Given the description of an element on the screen output the (x, y) to click on. 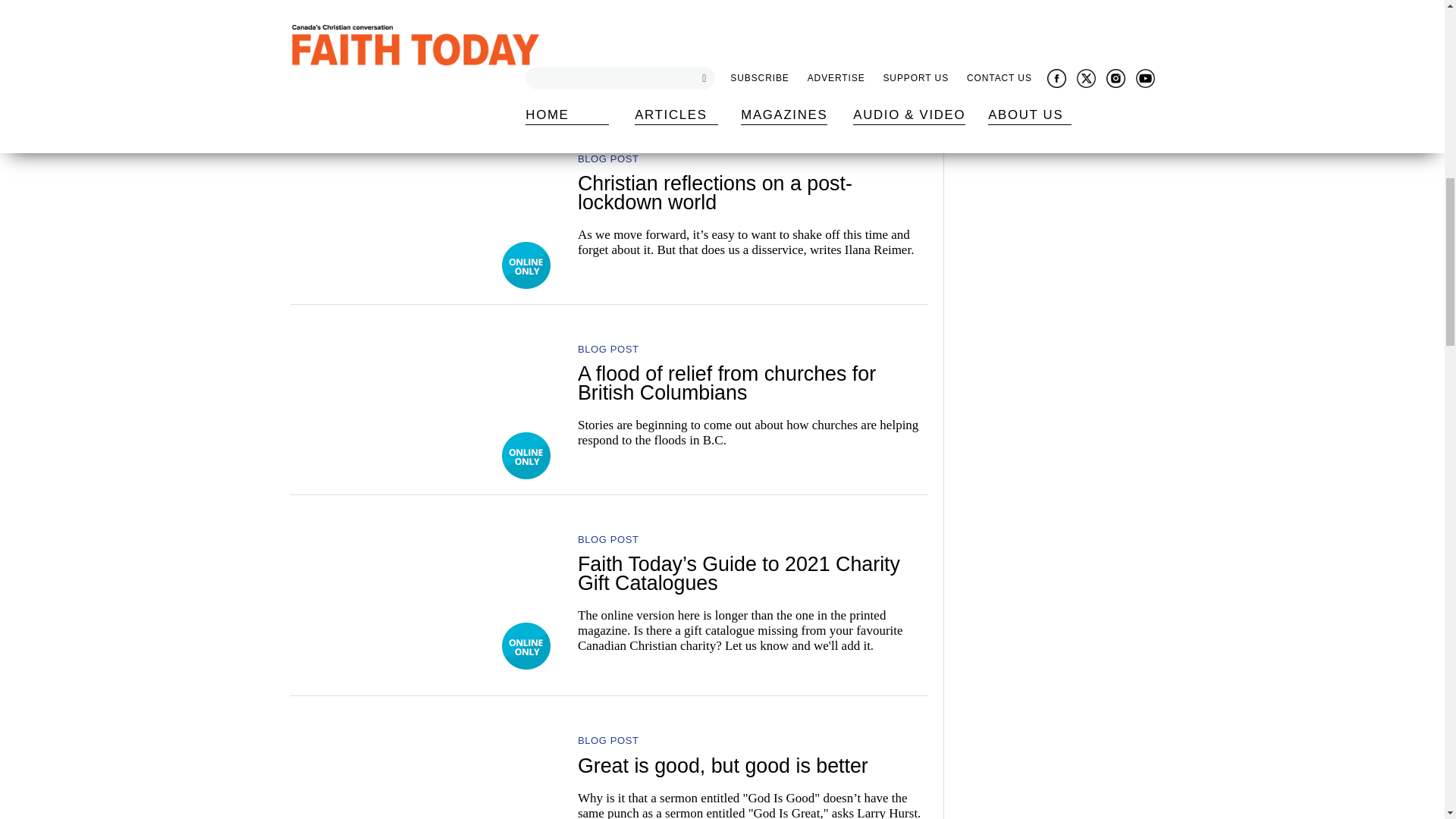
Flooding-photo-by-kelly-sikkema-unsplash (423, 395)
emerging (423, 205)
Good-on-graffiti-wall-photo-by-volkan-olmez (423, 768)
BC-flood-post (423, 36)
